Given the description of an element on the screen output the (x, y) to click on. 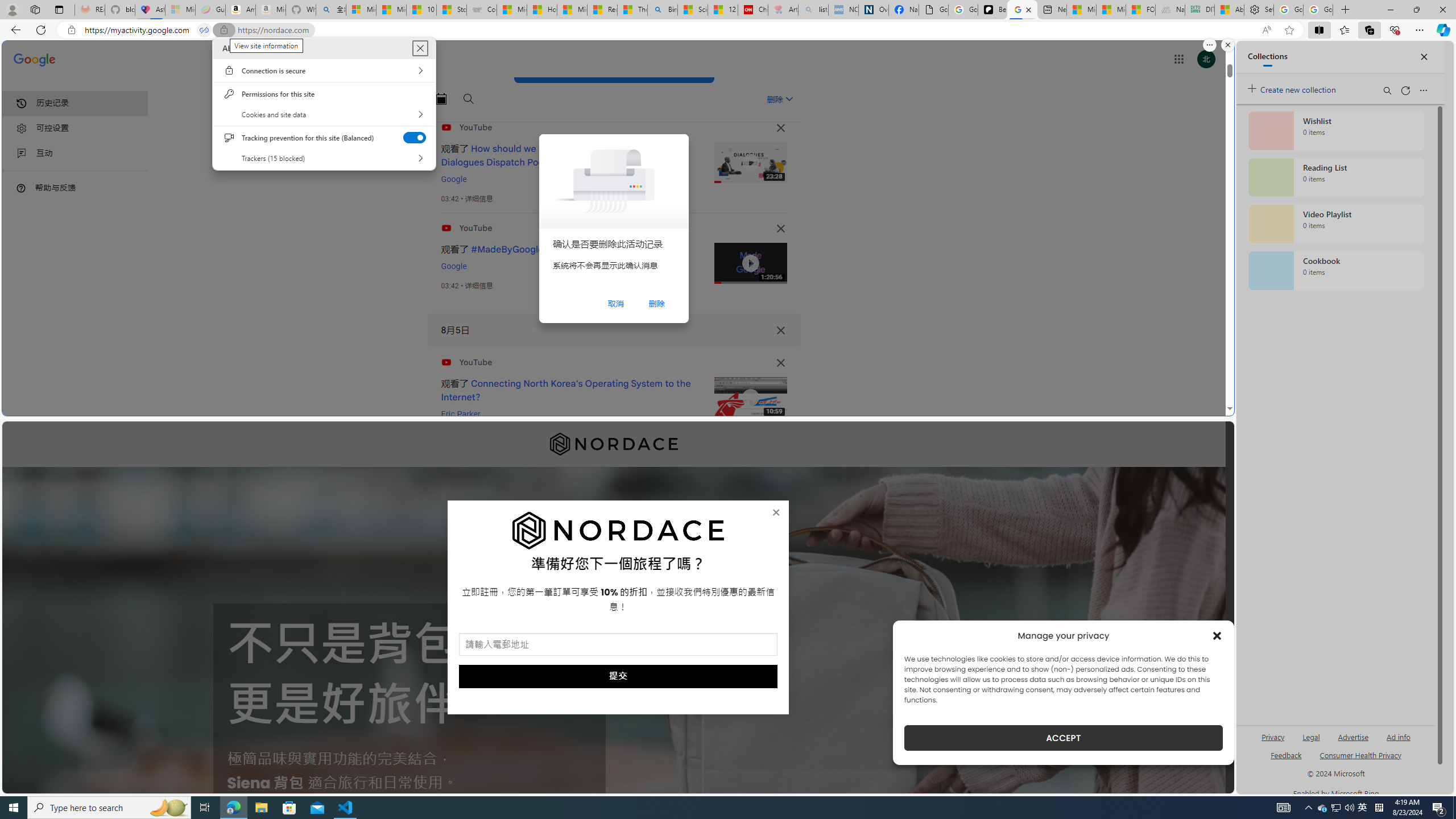
ACCEPT (1063, 737)
Bing (662, 9)
AutomationID: input_5_1 (617, 644)
FOX News - MSN (1140, 9)
To get missing image descriptions, open the context menu. (1362, 807)
Collections (617, 530)
Settings and more (Alt+F) (1369, 29)
